Given the description of an element on the screen output the (x, y) to click on. 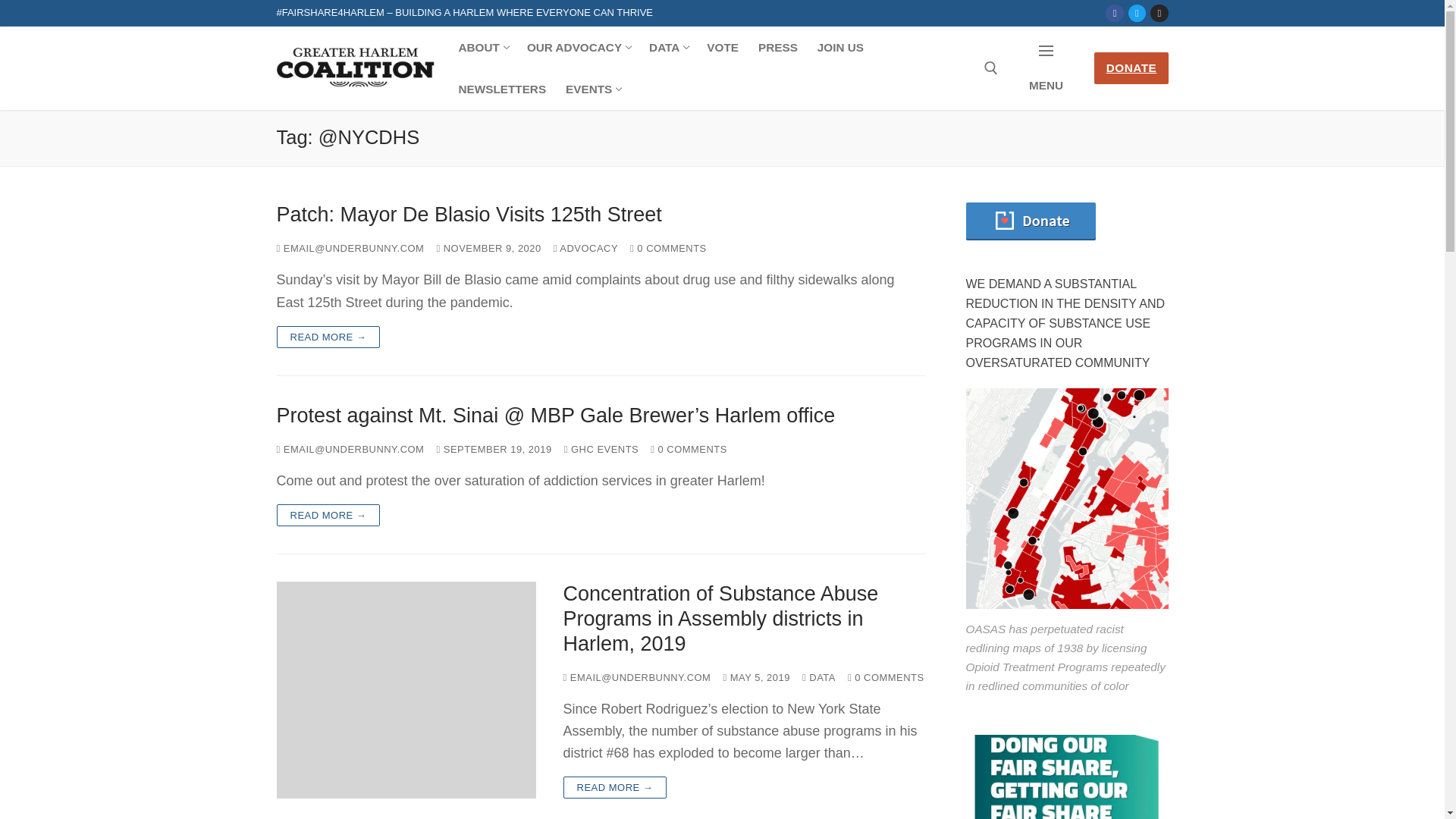
JOIN US (592, 88)
VOTE (840, 46)
Facebook (722, 46)
NEWSLETTERS (1114, 13)
DONATE (502, 88)
MENU (577, 46)
